Given the description of an element on the screen output the (x, y) to click on. 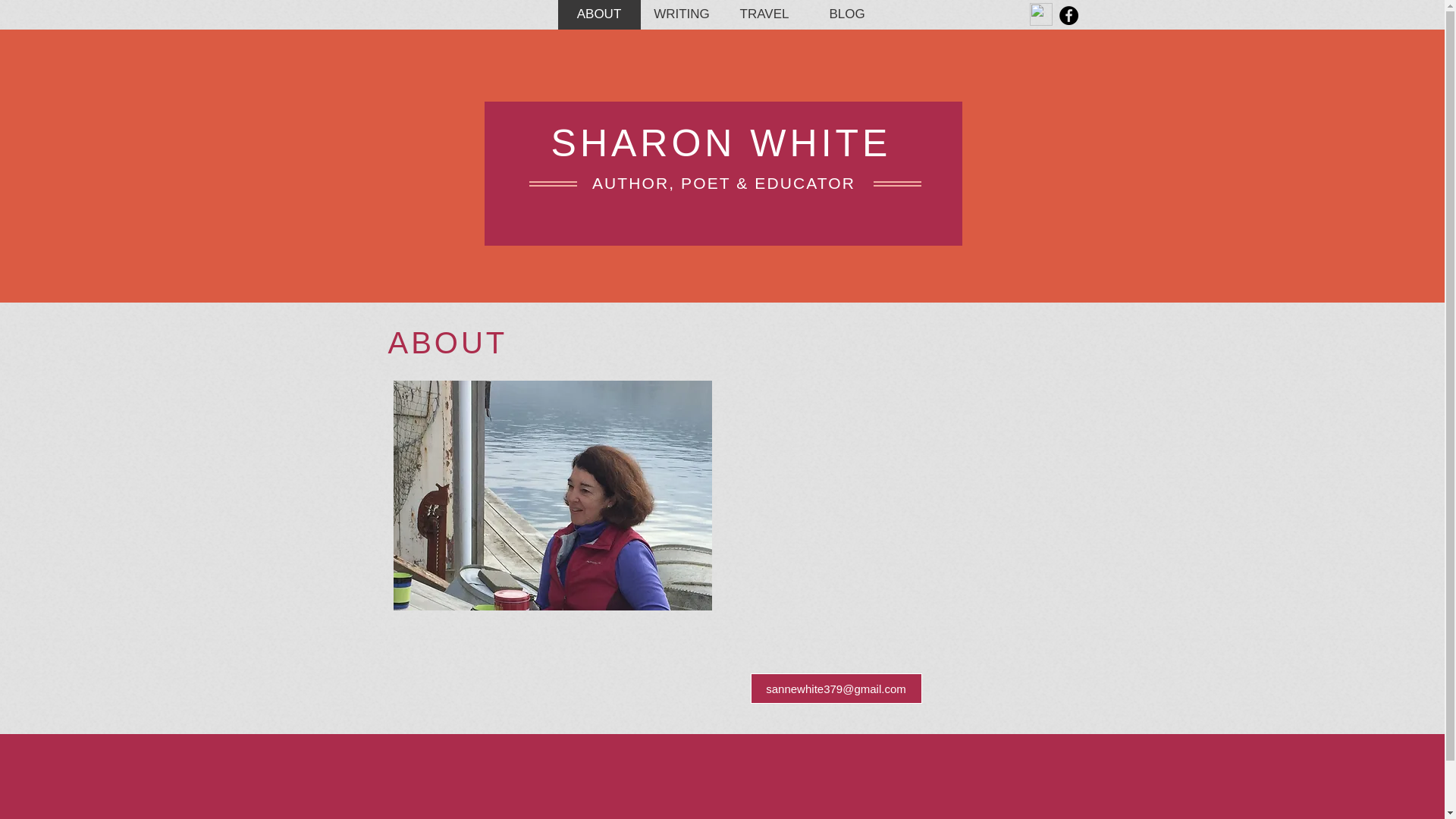
BLOG (846, 14)
WRITING (681, 14)
ABOUT (598, 14)
SHARON WHITE (721, 143)
TRAVEL (764, 14)
